Given the description of an element on the screen output the (x, y) to click on. 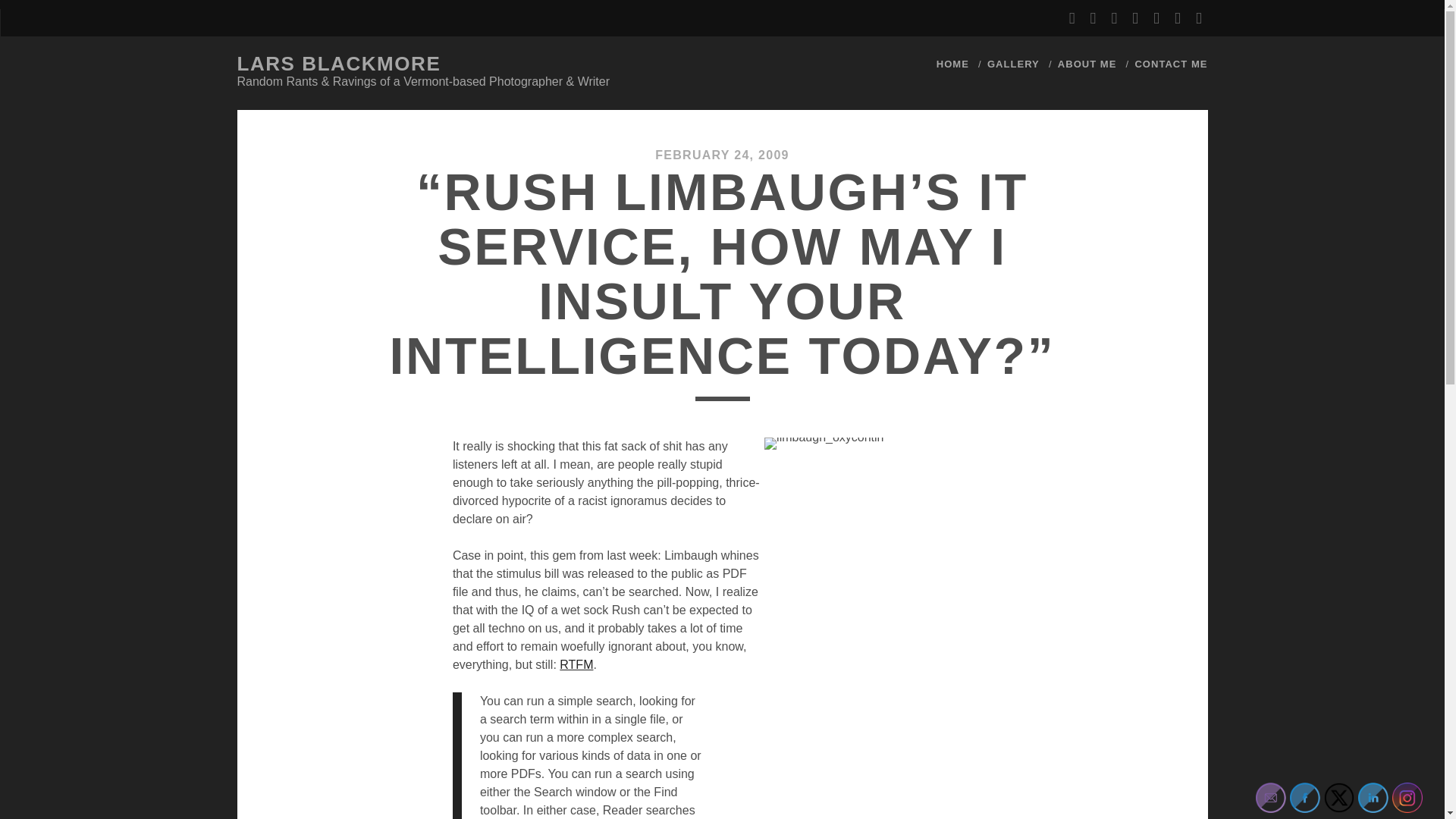
CONTACT ME (1170, 64)
RTFM (575, 664)
HOME (952, 64)
LARS BLACKMORE (338, 63)
GALLERY (1013, 64)
ABOUT ME (1087, 64)
